Given the description of an element on the screen output the (x, y) to click on. 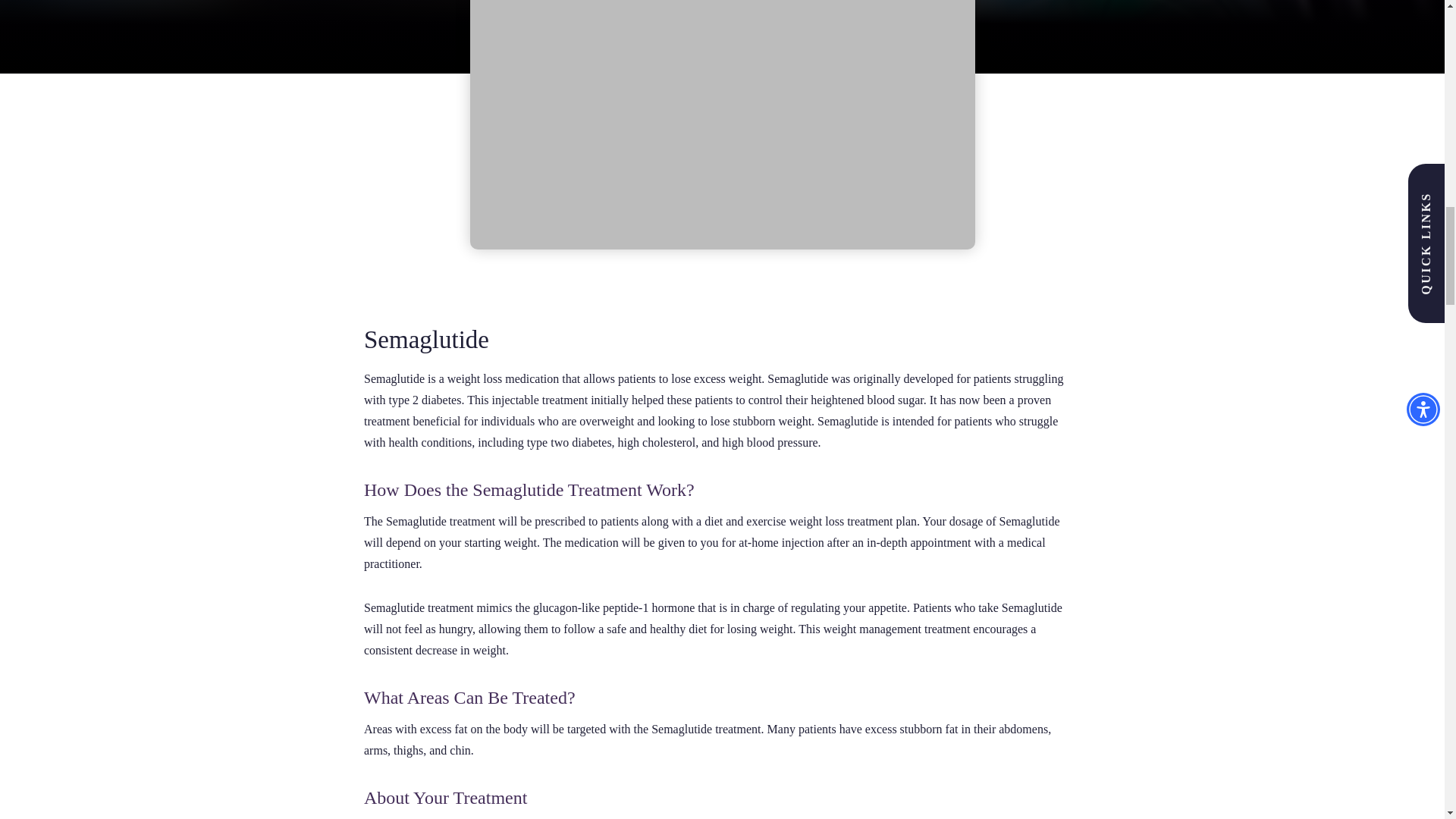
YouTube video player (722, 124)
